Given the description of an element on the screen output the (x, y) to click on. 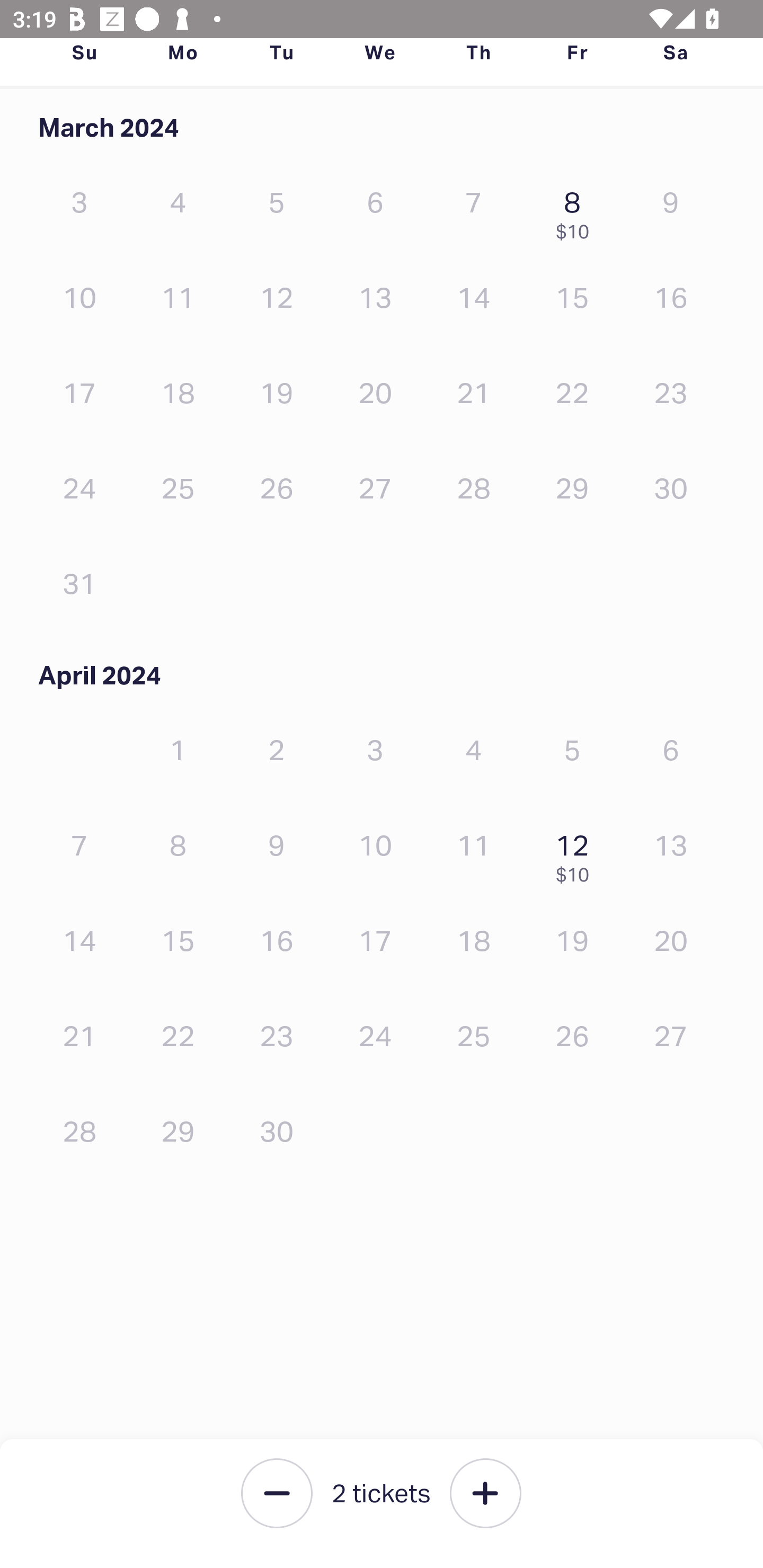
8 $10 (577, 210)
12 $10 (577, 853)
